Given the description of an element on the screen output the (x, y) to click on. 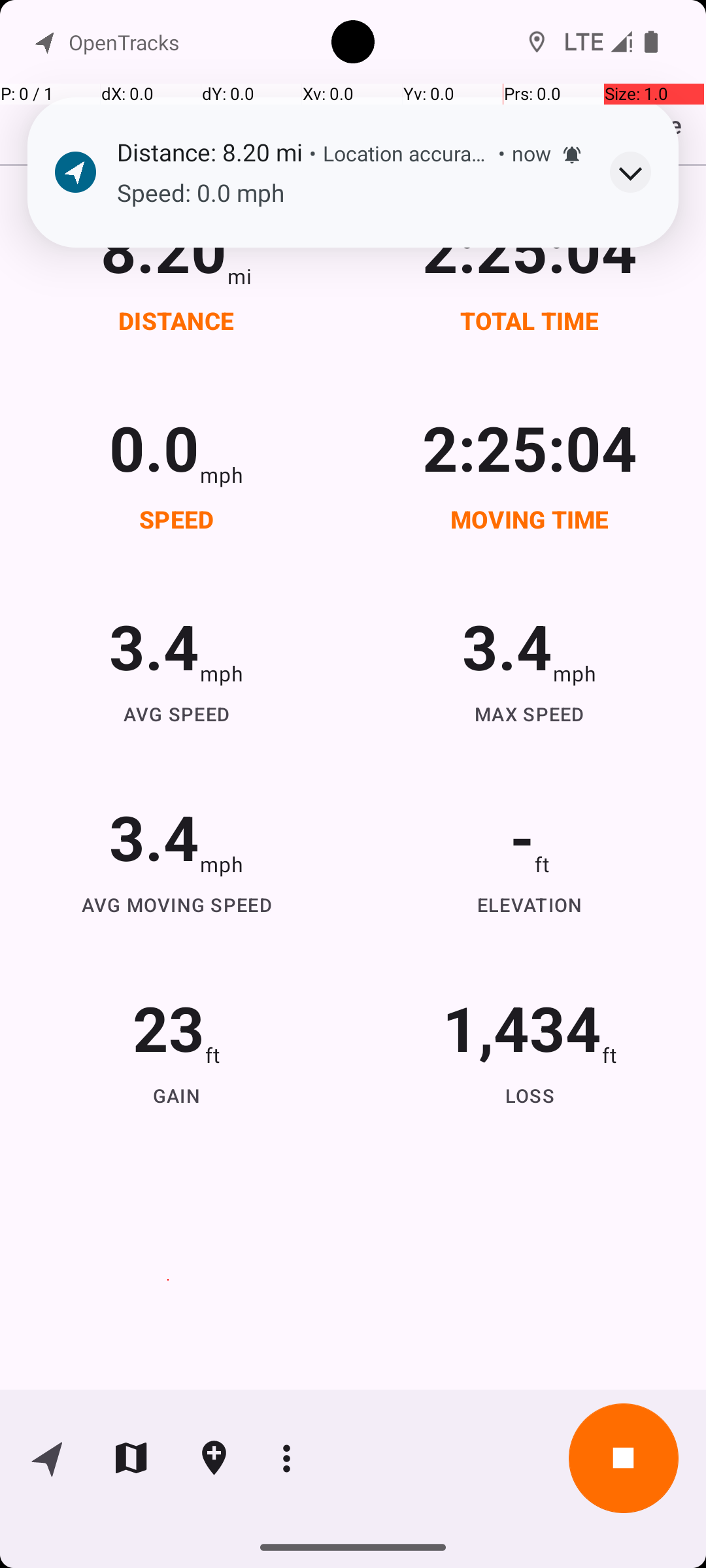
Insert marker Element type: android.widget.Button (213, 1458)
Stop Element type: android.widget.ImageButton (623, 1458)
8.20 Element type: android.widget.TextView (163, 248)
2:25:04 Element type: android.widget.TextView (529, 248)
0.0 Element type: android.widget.TextView (154, 446)
3.4 Element type: android.widget.TextView (154, 645)
- Element type: android.widget.TextView (521, 836)
1,434 Element type: android.widget.TextView (521, 1026)
Off Element type: android.widget.Switch (518, 107)
Speed: 0.0 mph Element type: android.widget.TextView (349, 192)
Expand Element type: android.widget.Button (630, 172)
Distance: 8.20 mi Element type: android.widget.TextView (209, 151)
• Element type: android.widget.TextView (312, 153)
Location accuracy: 16.40 ft Element type: android.widget.TextView (406, 153)
now Element type: android.widget.TextView (531, 153)
Alerted Element type: android.widget.ImageView (571, 154)
